Given the description of an element on the screen output the (x, y) to click on. 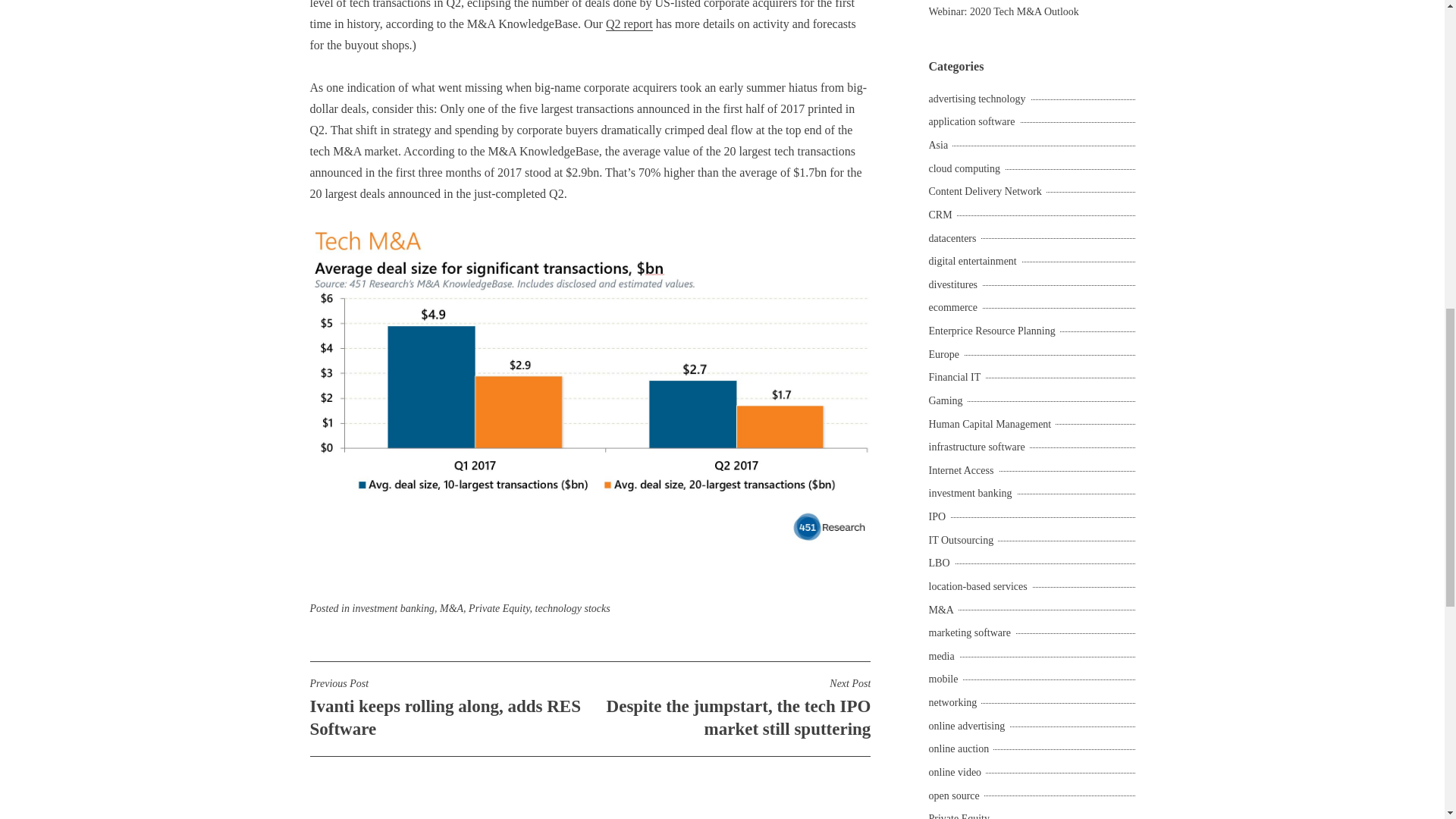
Private Equity (498, 608)
technology stocks (572, 608)
advertising technology (978, 98)
Asia (940, 144)
cloud computing (966, 168)
investment banking (448, 707)
application software (392, 608)
Content Delivery Network (973, 121)
